Given the description of an element on the screen output the (x, y) to click on. 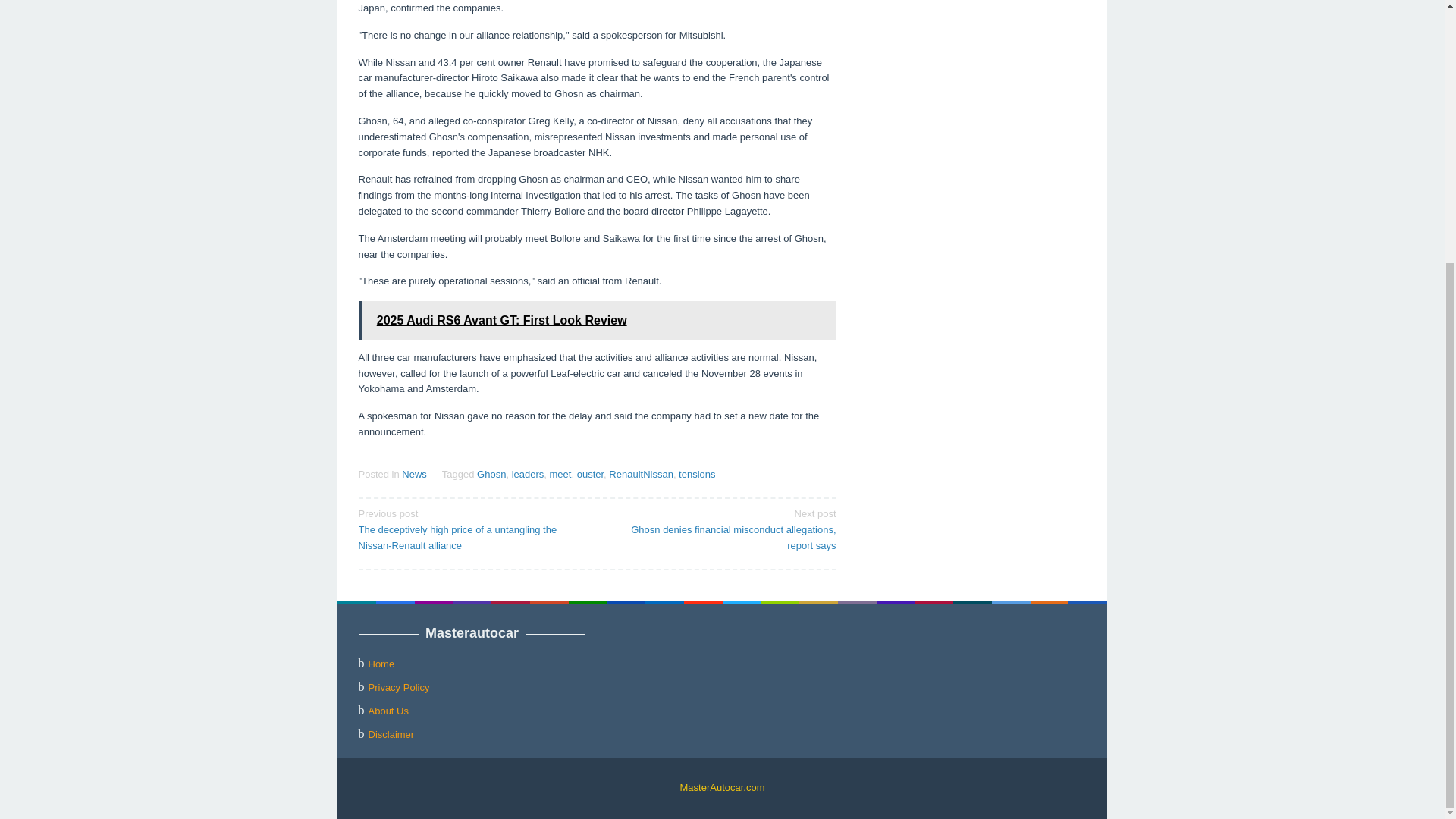
tensions (696, 473)
leaders (528, 473)
  2025 Audi RS6 Avant GT: First Look Review (596, 320)
Ghosn (491, 473)
RenaultNissan (640, 473)
About Us (388, 710)
Disclaimer (391, 734)
meet (561, 473)
News (413, 473)
ouster (590, 473)
Privacy Policy (398, 686)
Home (381, 663)
